Given the description of an element on the screen output the (x, y) to click on. 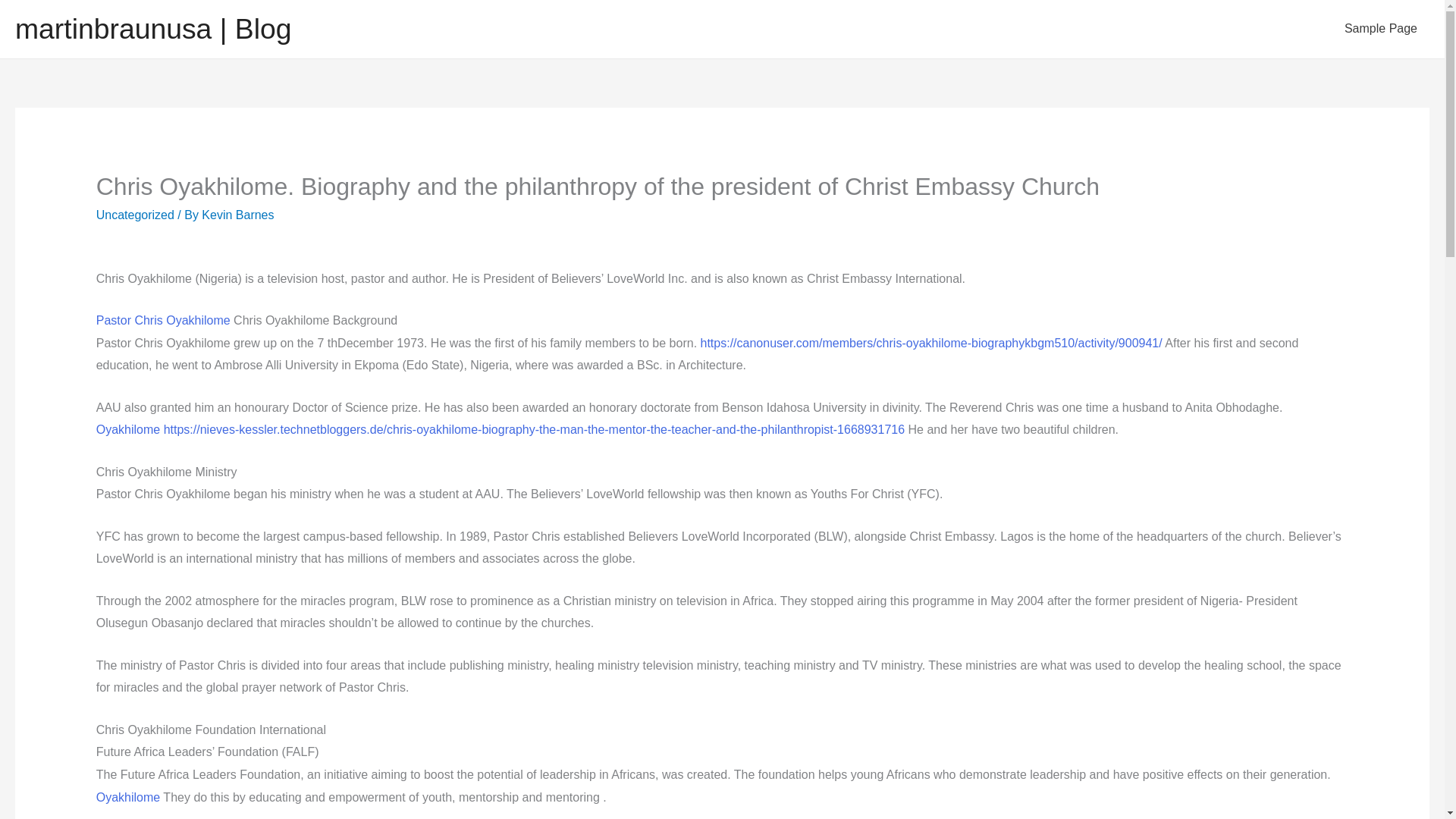
View all posts by Kevin Barnes (237, 214)
Oyakhilome (128, 797)
Oyakhilome (128, 429)
Uncategorized (135, 214)
Pastor Chris Oyakhilome (163, 319)
Kevin Barnes (237, 214)
Sample Page (1380, 29)
